Given the description of an element on the screen output the (x, y) to click on. 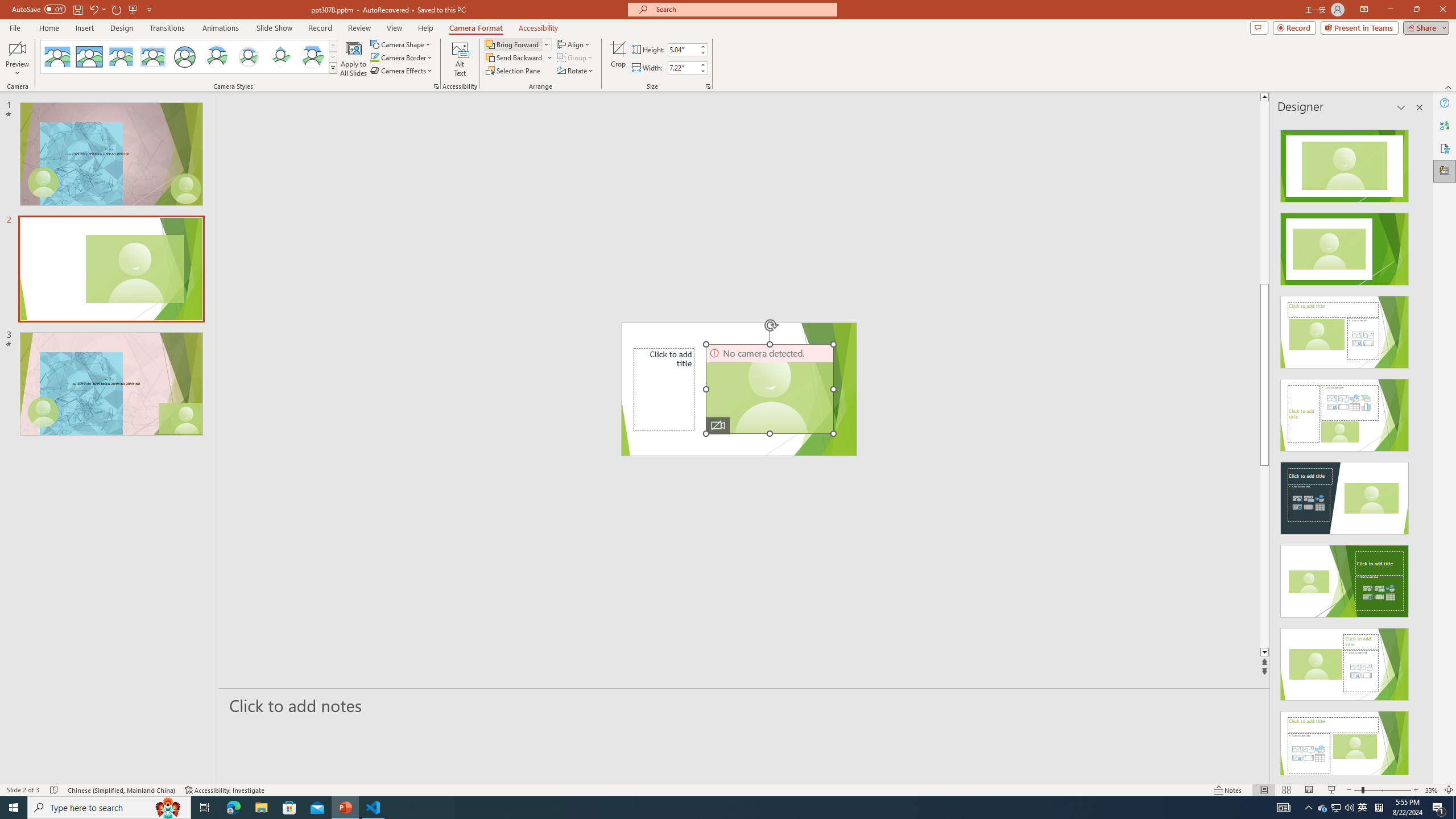
Enable Camera Preview (17, 48)
Soft Edge Circle (248, 56)
AutomationID: CameoStylesGallery (189, 56)
Zoom 33% (1431, 790)
